Given the description of an element on the screen output the (x, y) to click on. 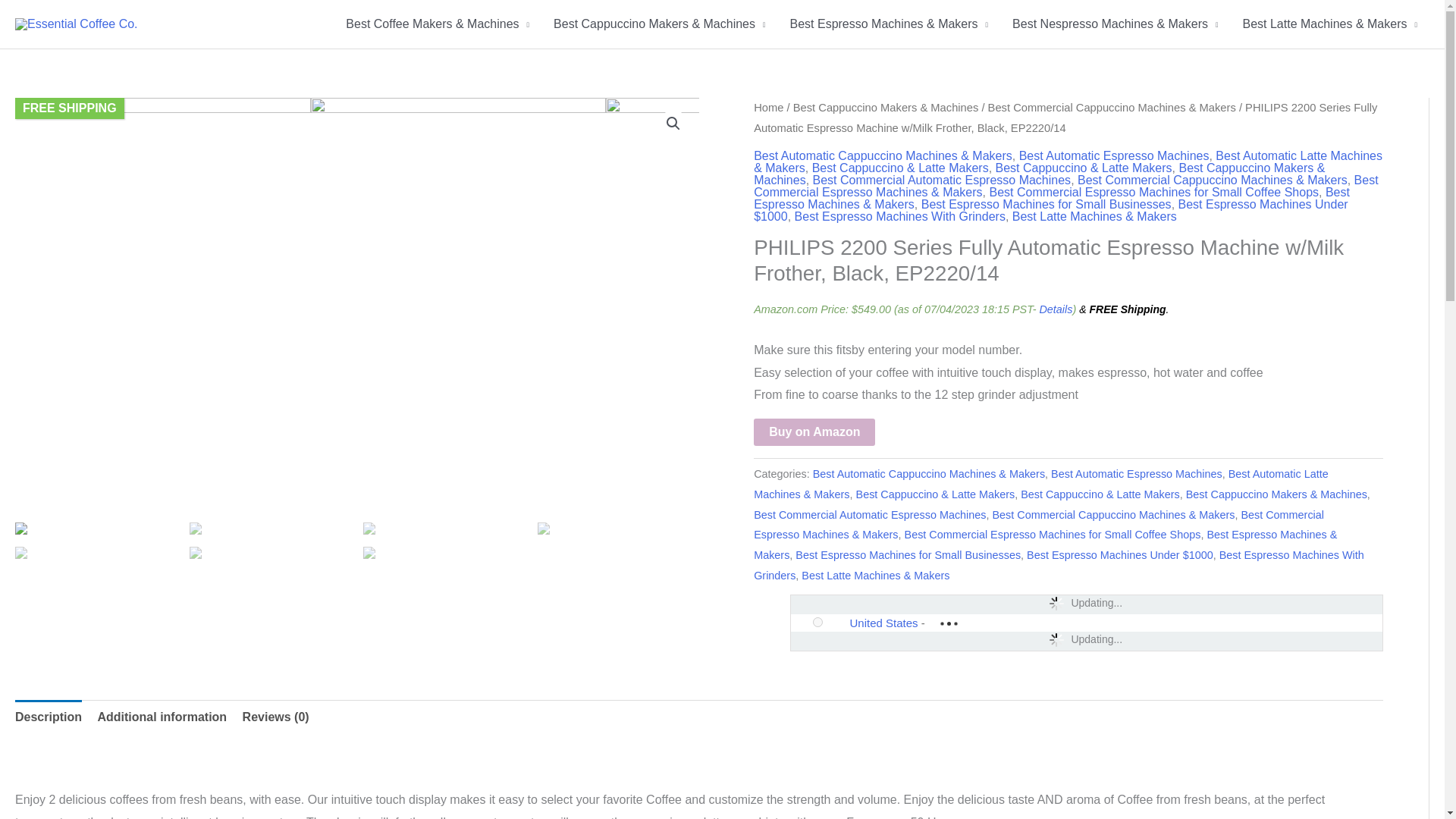
FREE SHIPPING (69, 108)
United States (836, 622)
on (817, 622)
